Given the description of an element on the screen output the (x, y) to click on. 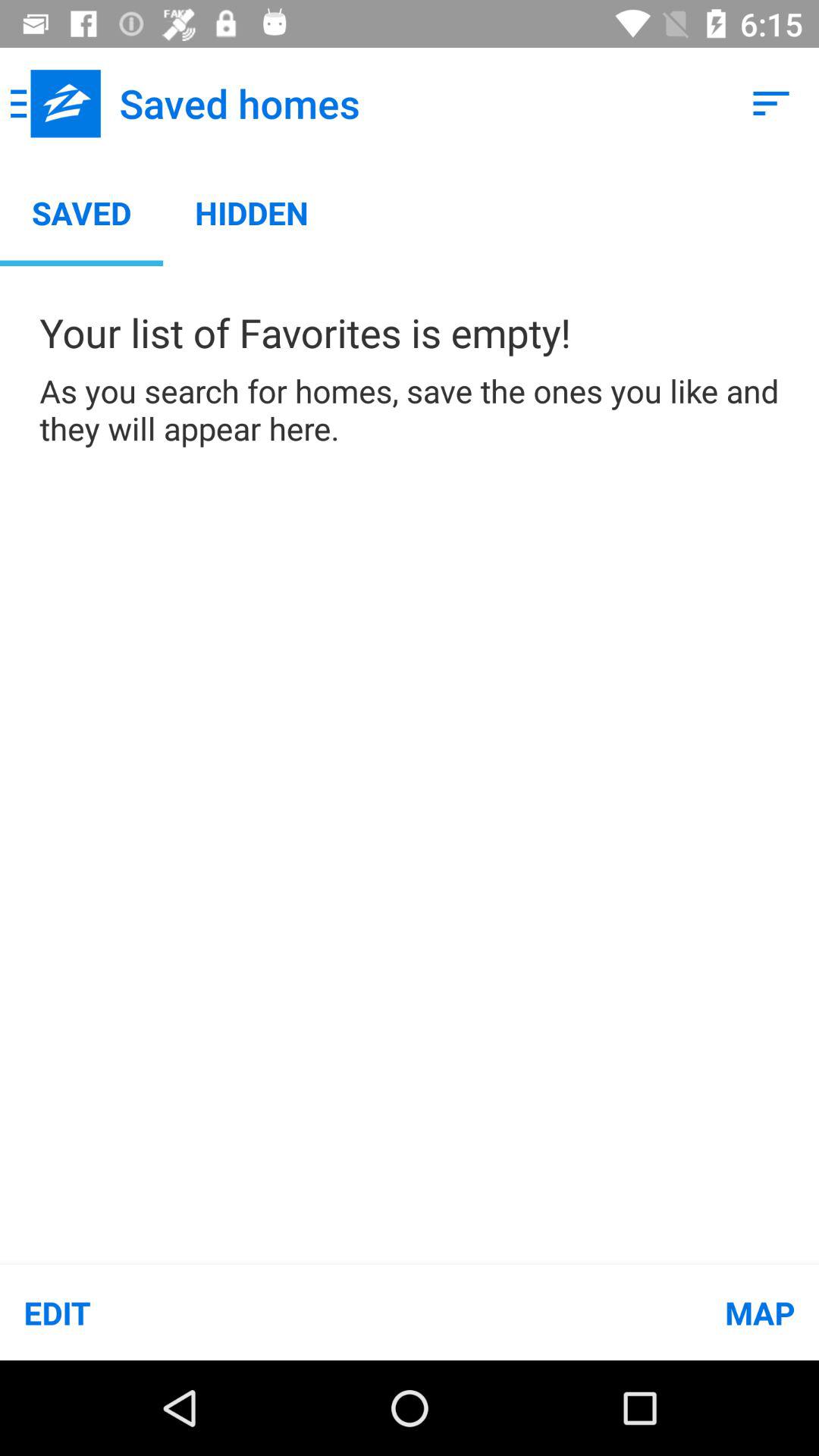
tap item to the left of saved homes icon (55, 103)
